Given the description of an element on the screen output the (x, y) to click on. 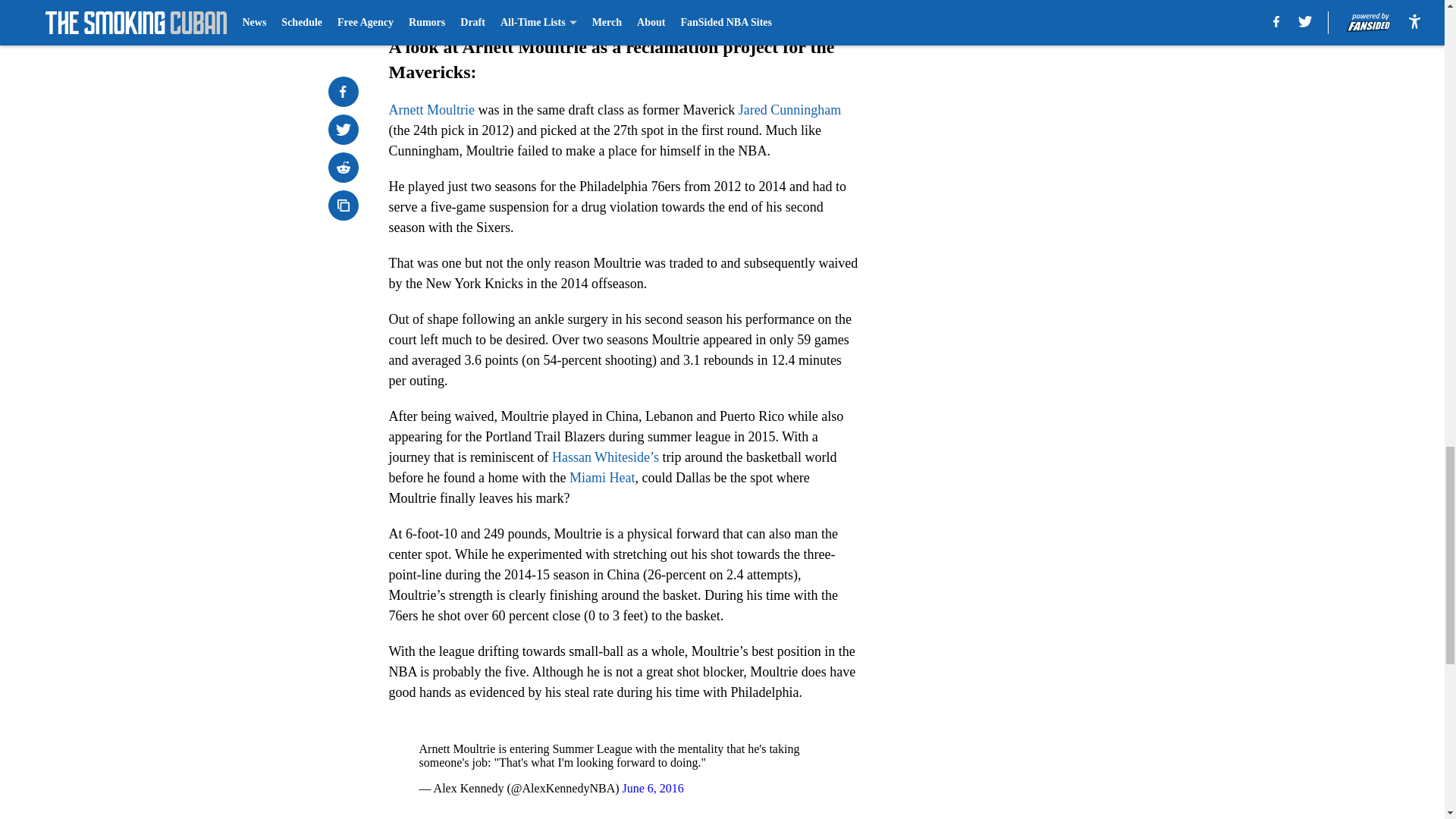
June 6, 2016 (653, 788)
June 10, 2016 (656, 3)
Miami Heat (601, 477)
Jared Cunningham (789, 109)
Arnett Moultrie (431, 109)
